Given the description of an element on the screen output the (x, y) to click on. 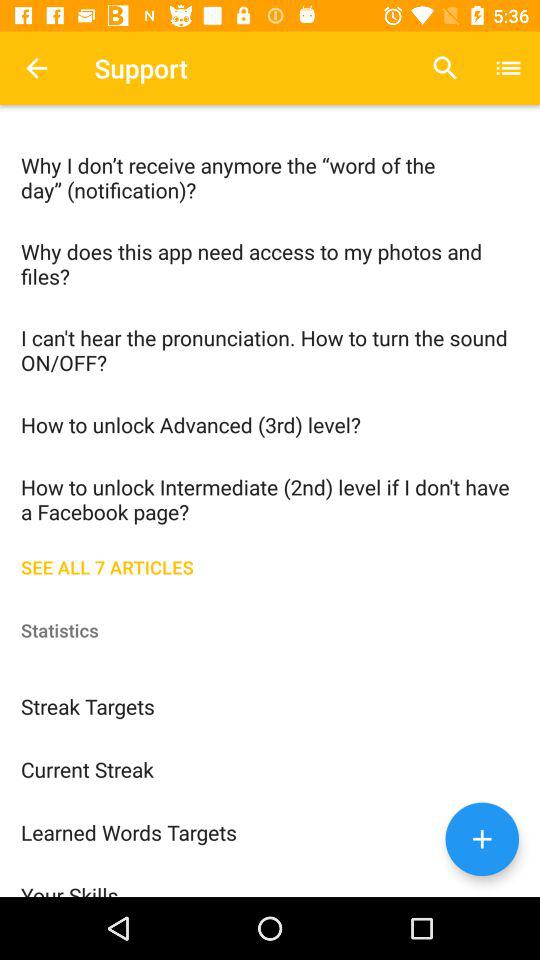
scroll to the see all 7 icon (270, 565)
